Given the description of an element on the screen output the (x, y) to click on. 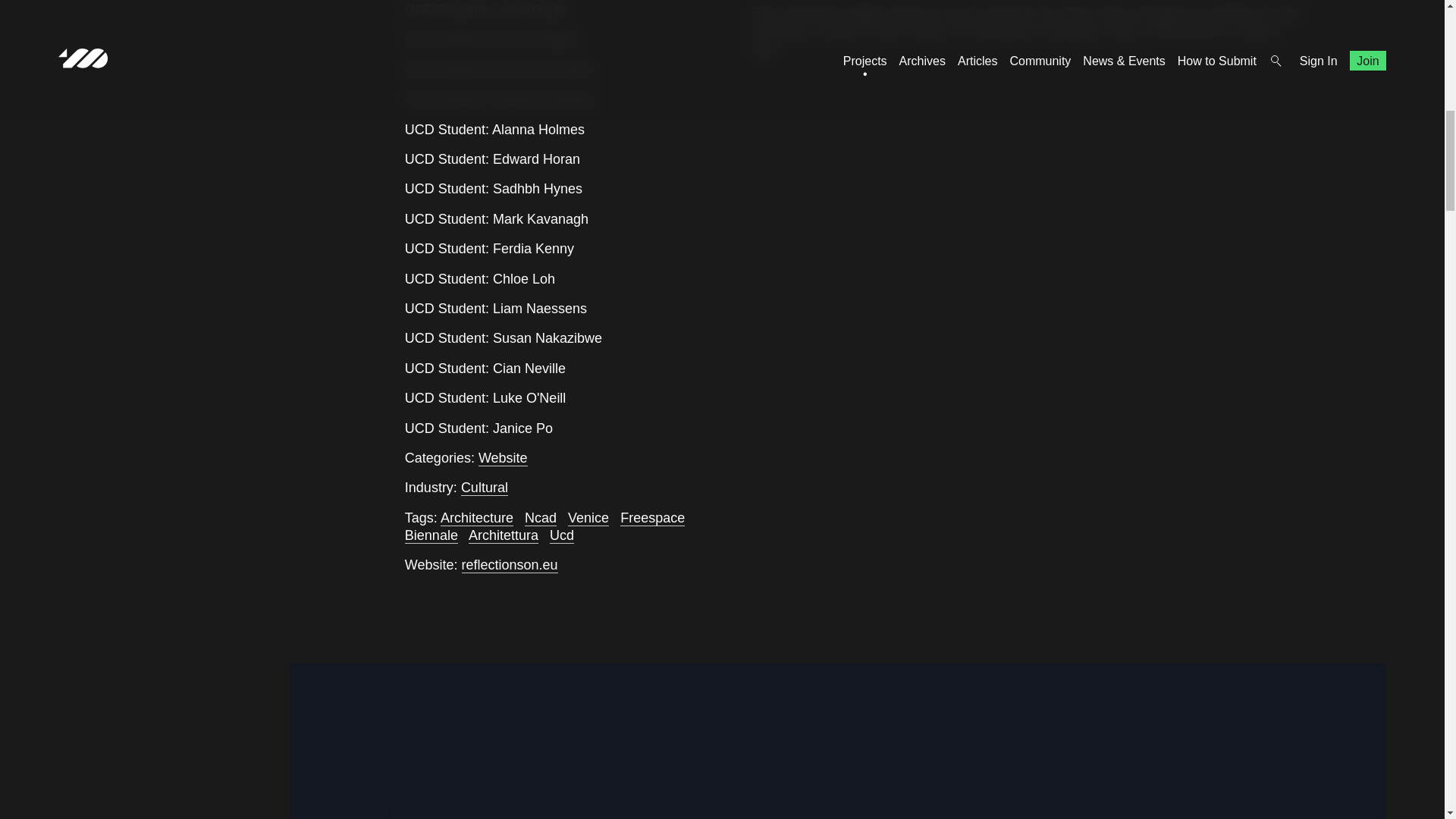
Biennale (431, 535)
Freespace (652, 518)
Architecture (477, 518)
Ncad (540, 518)
Venice (587, 518)
Architettura (503, 535)
Website (503, 458)
Ucd (561, 535)
reflectionson.eu (509, 565)
Cultural (484, 487)
